Given the description of an element on the screen output the (x, y) to click on. 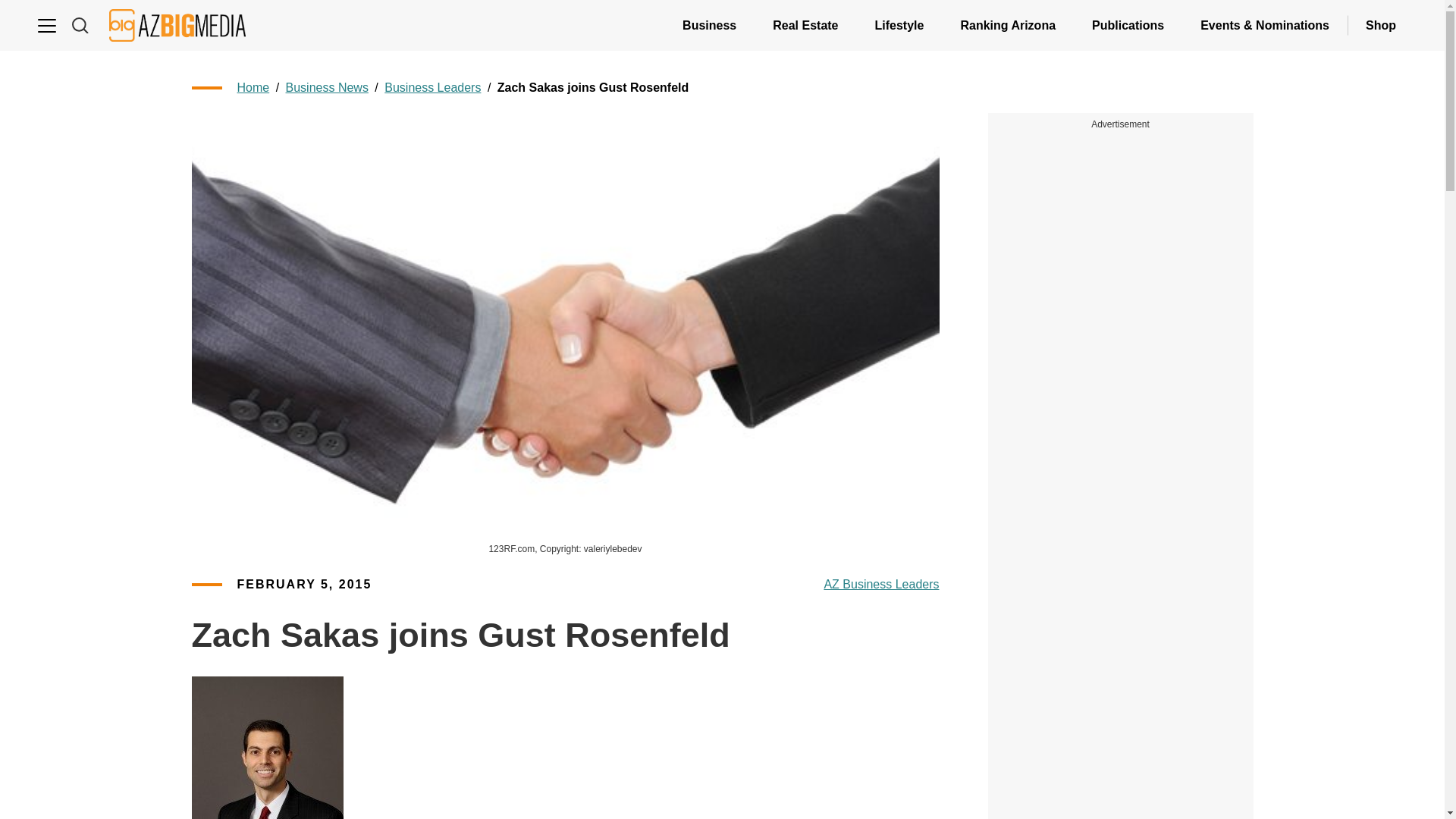
3rd party ad content (1120, 438)
Posts by AZ Business Leaders (881, 585)
3rd party ad content (1120, 230)
AZ Big Media Logo (177, 25)
Business (708, 25)
